Given the description of an element on the screen output the (x, y) to click on. 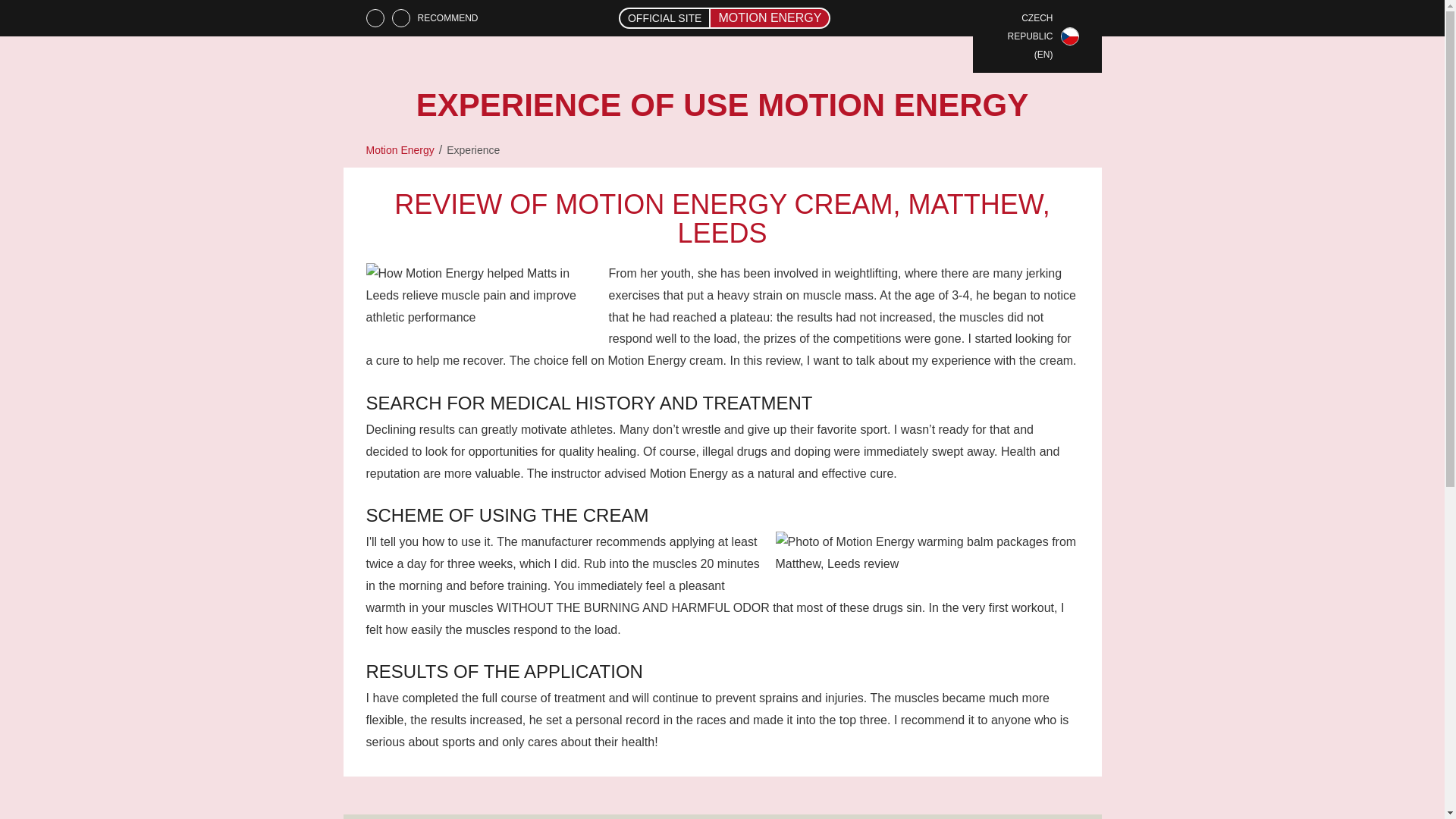
Motion Energy (399, 150)
Twitter (401, 17)
OFFICIAL SITE MOTION ENERGY (724, 18)
Experience (472, 150)
Facebook (375, 17)
